Given the description of an element on the screen output the (x, y) to click on. 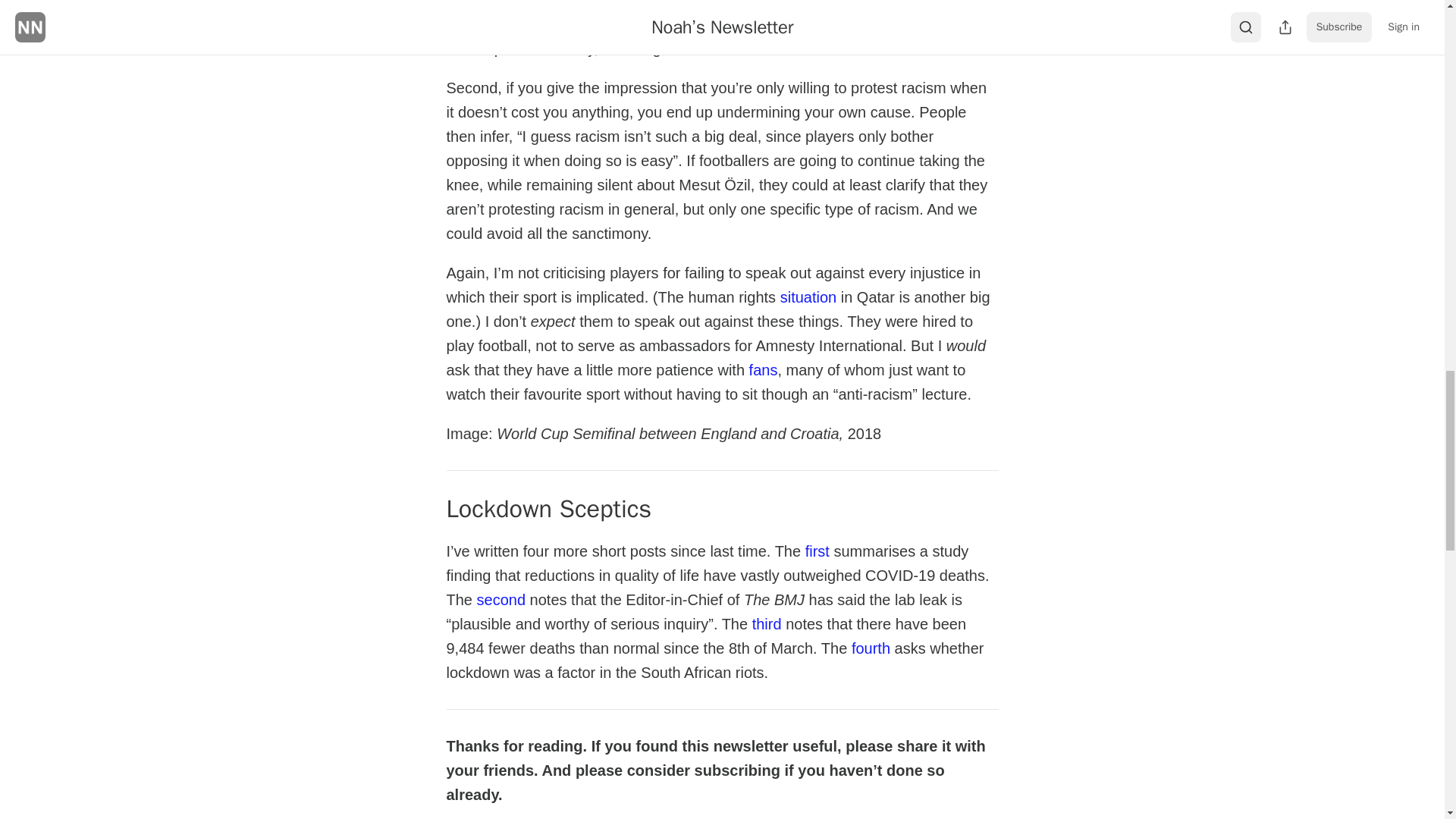
second (501, 599)
first (817, 550)
fans (763, 369)
situation (808, 296)
